Given the description of an element on the screen output the (x, y) to click on. 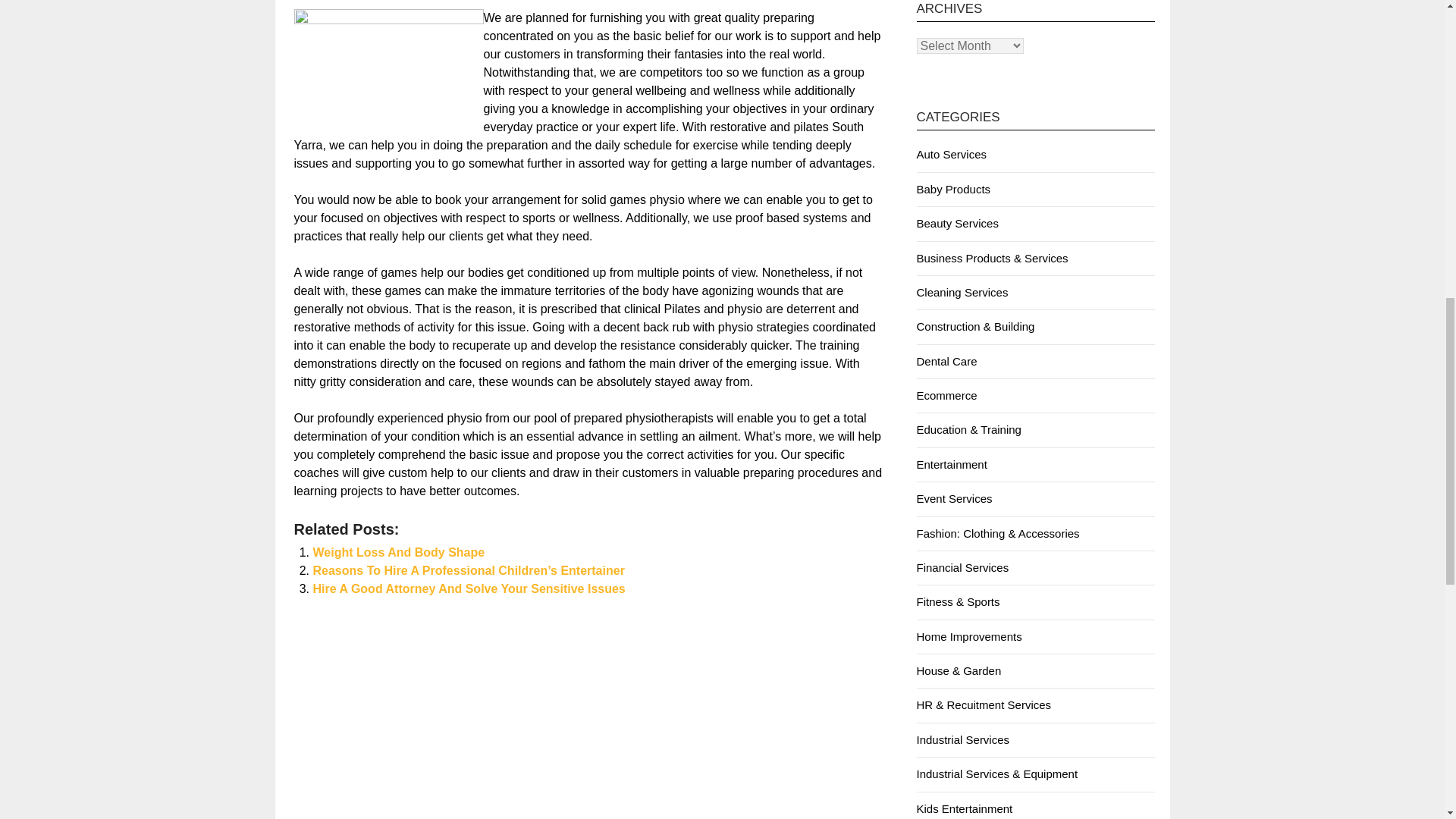
Ecommerce (945, 395)
Cleaning Services (961, 291)
Industrial Services (962, 739)
Dental Care (945, 360)
Weight Loss And Body Shape (398, 552)
Entertainment (951, 463)
Hire A Good Attorney And Solve Your Sensitive Issues (468, 588)
Event Services (953, 498)
Entertainment (951, 463)
pilates.jpg (388, 72)
Kids Entertainment (963, 808)
Weight Loss And Body Shape (398, 552)
Hire A Good Attorney And Solve Your Sensitive Issues (468, 588)
Beauty Services (956, 223)
Financial Services (962, 567)
